Given the description of an element on the screen output the (x, y) to click on. 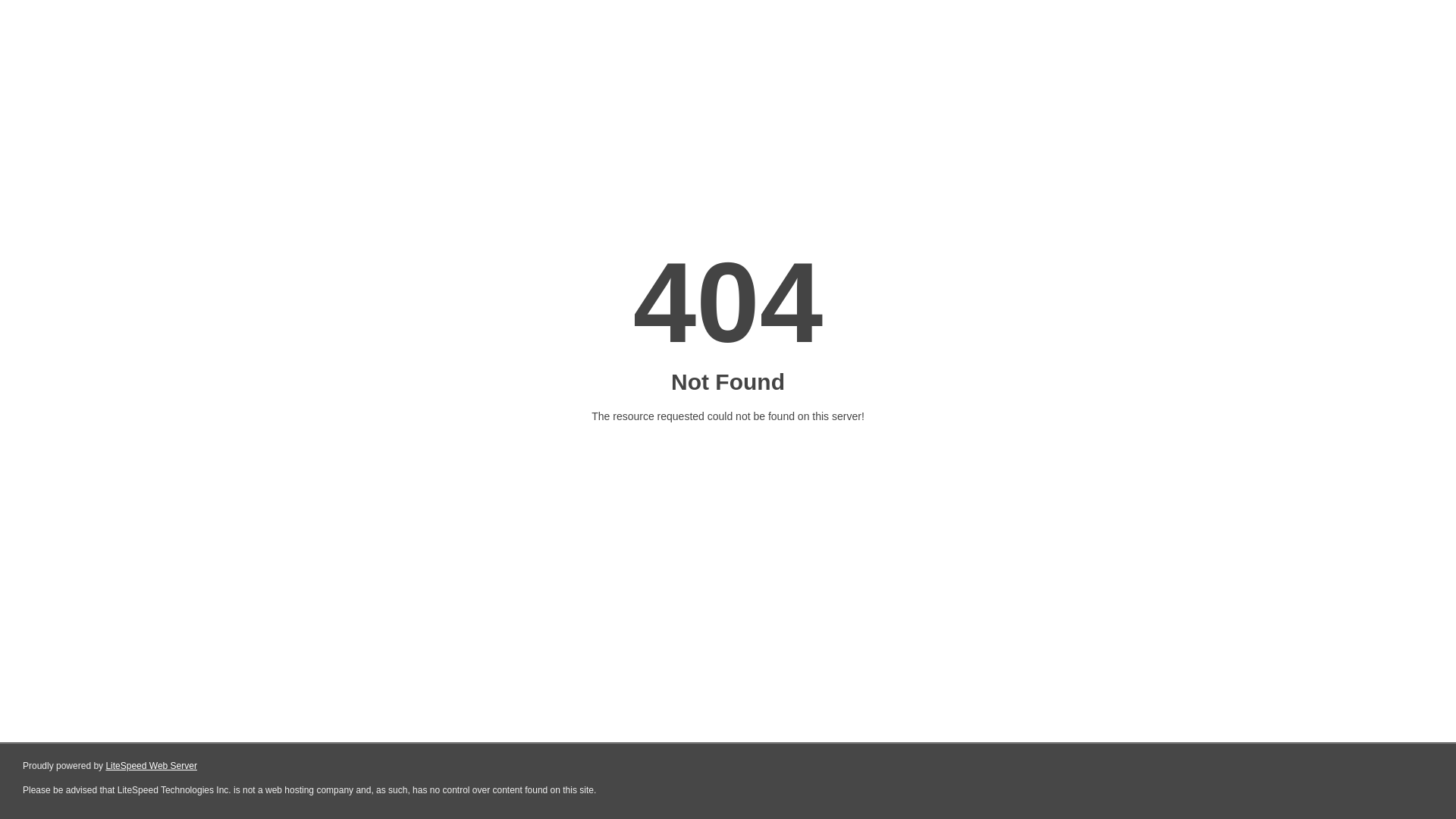
LiteSpeed Web Server Element type: text (151, 765)
